Given the description of an element on the screen output the (x, y) to click on. 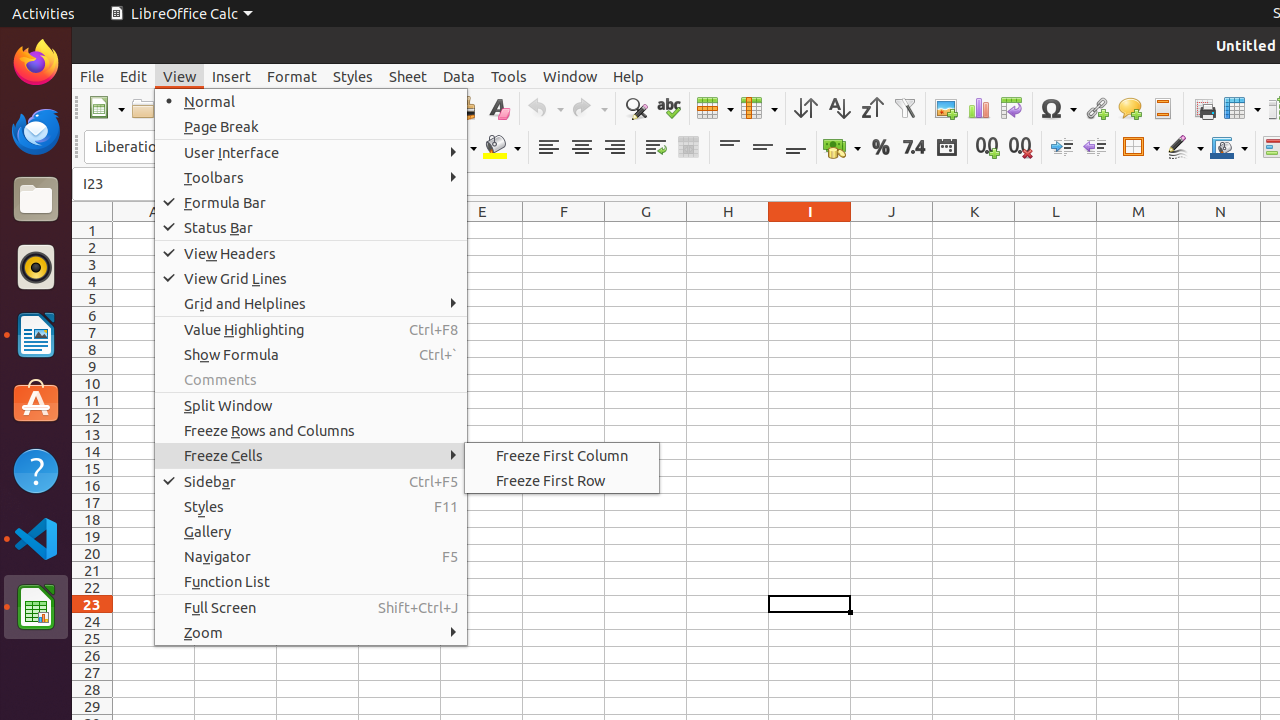
Edit Element type: menu (133, 76)
Undo Element type: push-button (545, 108)
View Headers Element type: check-menu-item (311, 253)
Background Color Element type: push-button (502, 147)
File Element type: menu (92, 76)
